Given the description of an element on the screen output the (x, y) to click on. 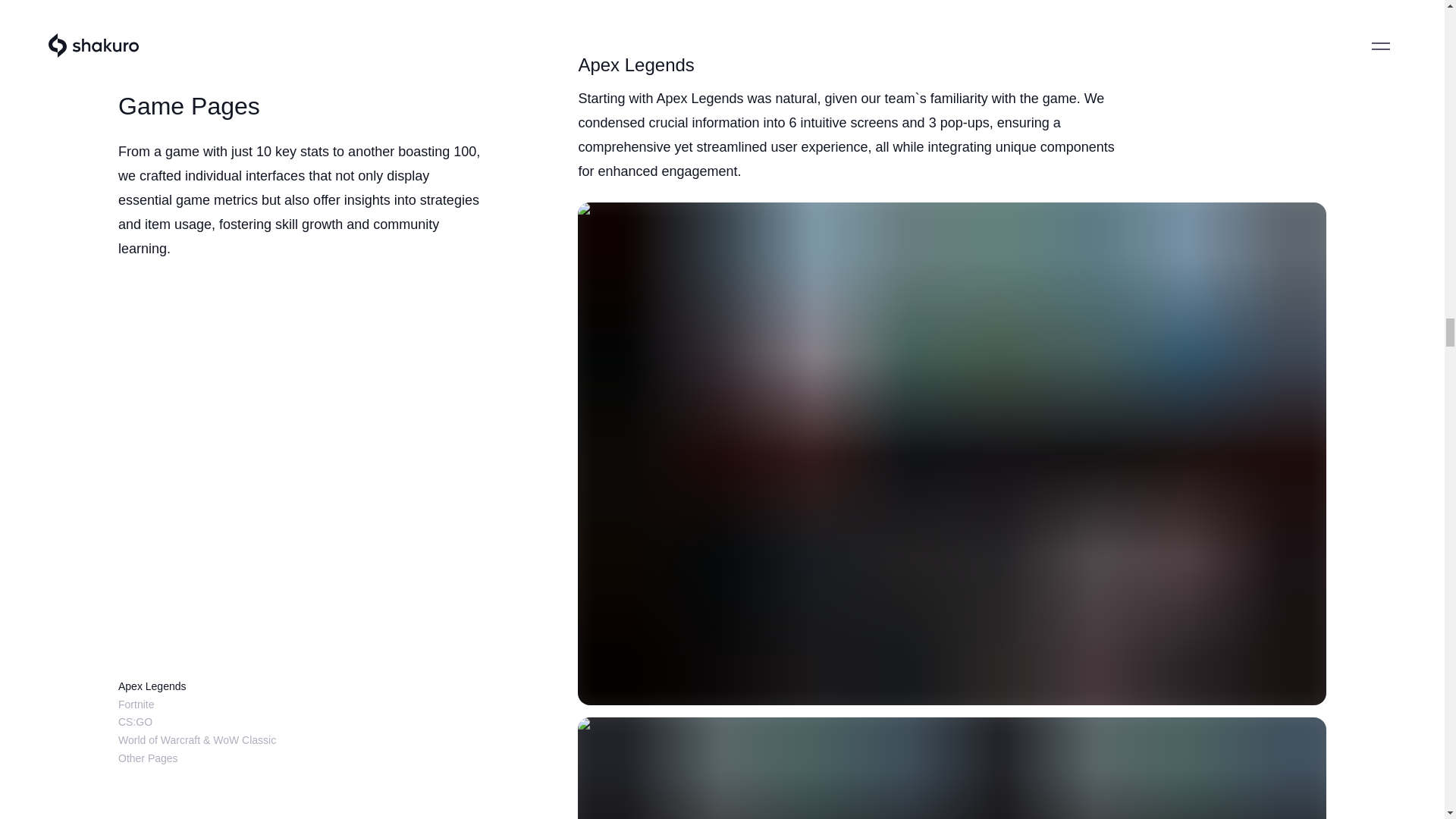
Other Pages (147, 82)
Apex Legends (151, 10)
CS:GO (134, 46)
Fortnite (135, 29)
